Given the description of an element on the screen output the (x, y) to click on. 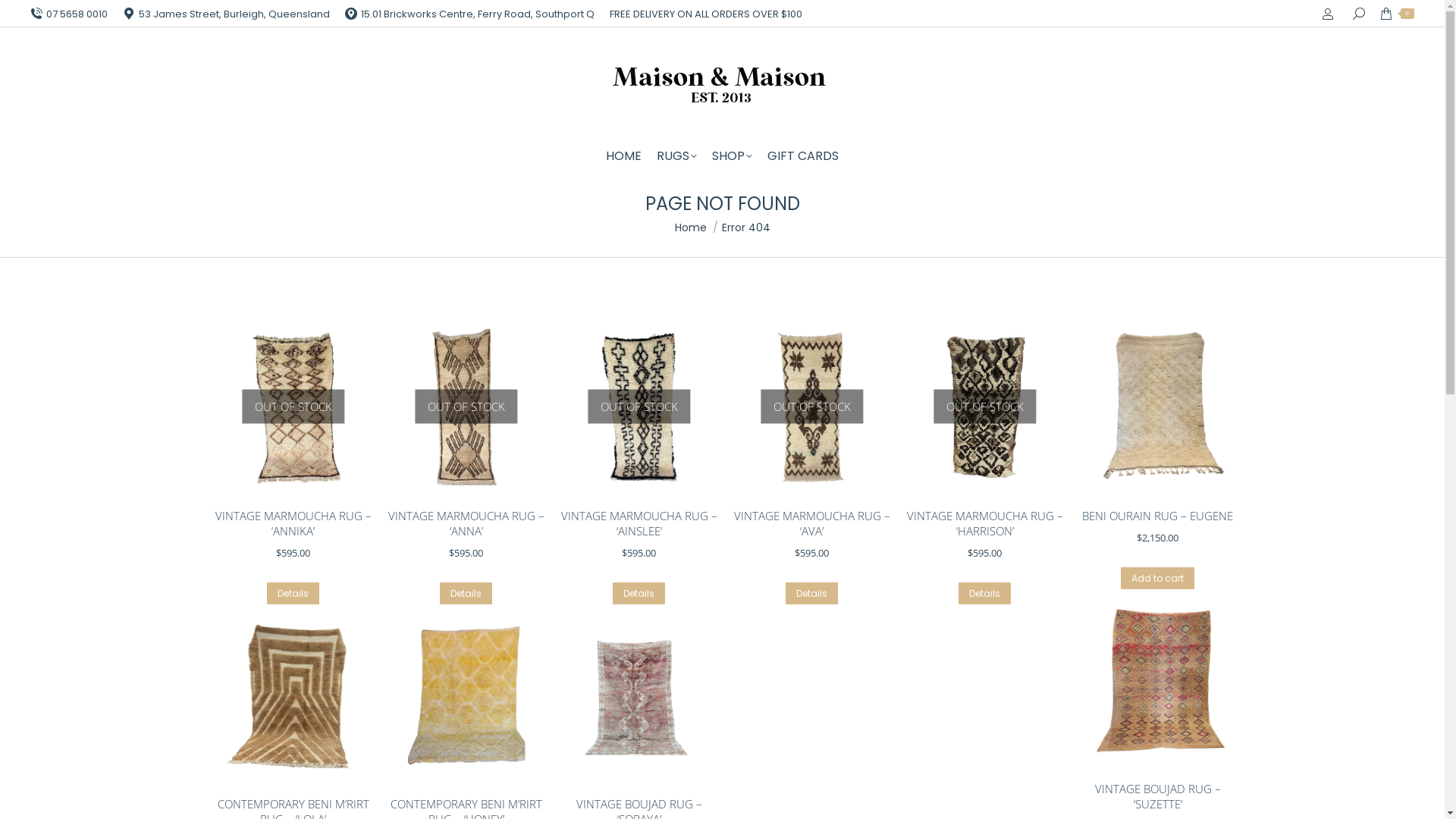
GIFT CARDS Element type: text (802, 156)
Home Element type: text (690, 227)
HOME Element type: text (623, 156)
15.01 Brickworks Centre, Ferry Road, Southport Q Element type: text (469, 13)
Details Element type: text (638, 593)
Details Element type: text (292, 593)
Add to cart Element type: text (1157, 578)
53 James Street, Burleigh, Queensland Element type: text (225, 13)
 0 Element type: text (1397, 13)
Go! Element type: text (24, 16)
Details Element type: text (465, 593)
SHOP Element type: text (732, 156)
Details Element type: text (811, 593)
Details Element type: text (984, 593)
RUGS Element type: text (676, 156)
Go! Element type: text (745, 448)
